Given the description of an element on the screen output the (x, y) to click on. 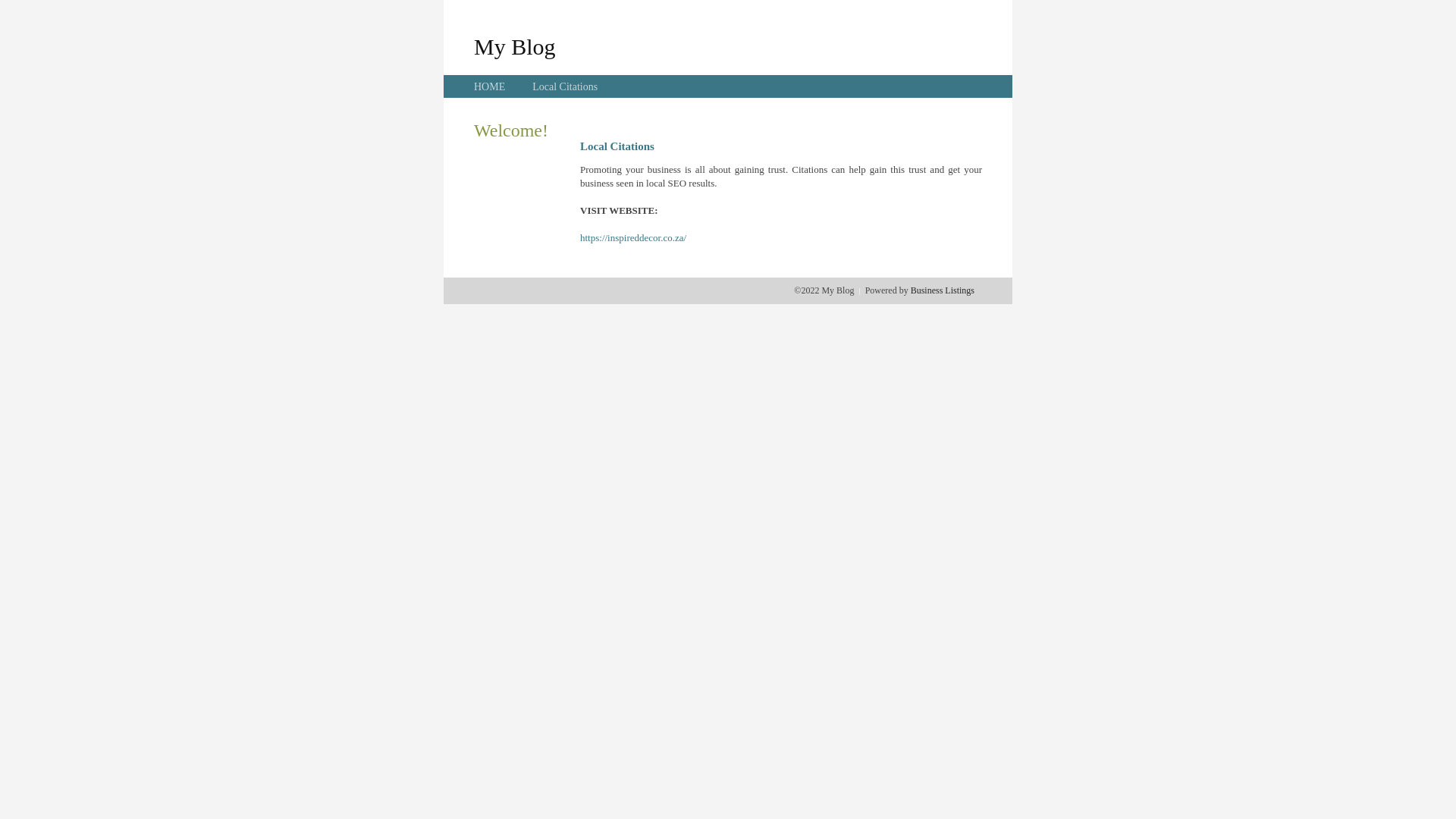
https://inspireddecor.co.za/ Element type: text (633, 237)
Business Listings Element type: text (942, 290)
Local Citations Element type: text (564, 86)
My Blog Element type: text (514, 46)
HOME Element type: text (489, 86)
